Given the description of an element on the screen output the (x, y) to click on. 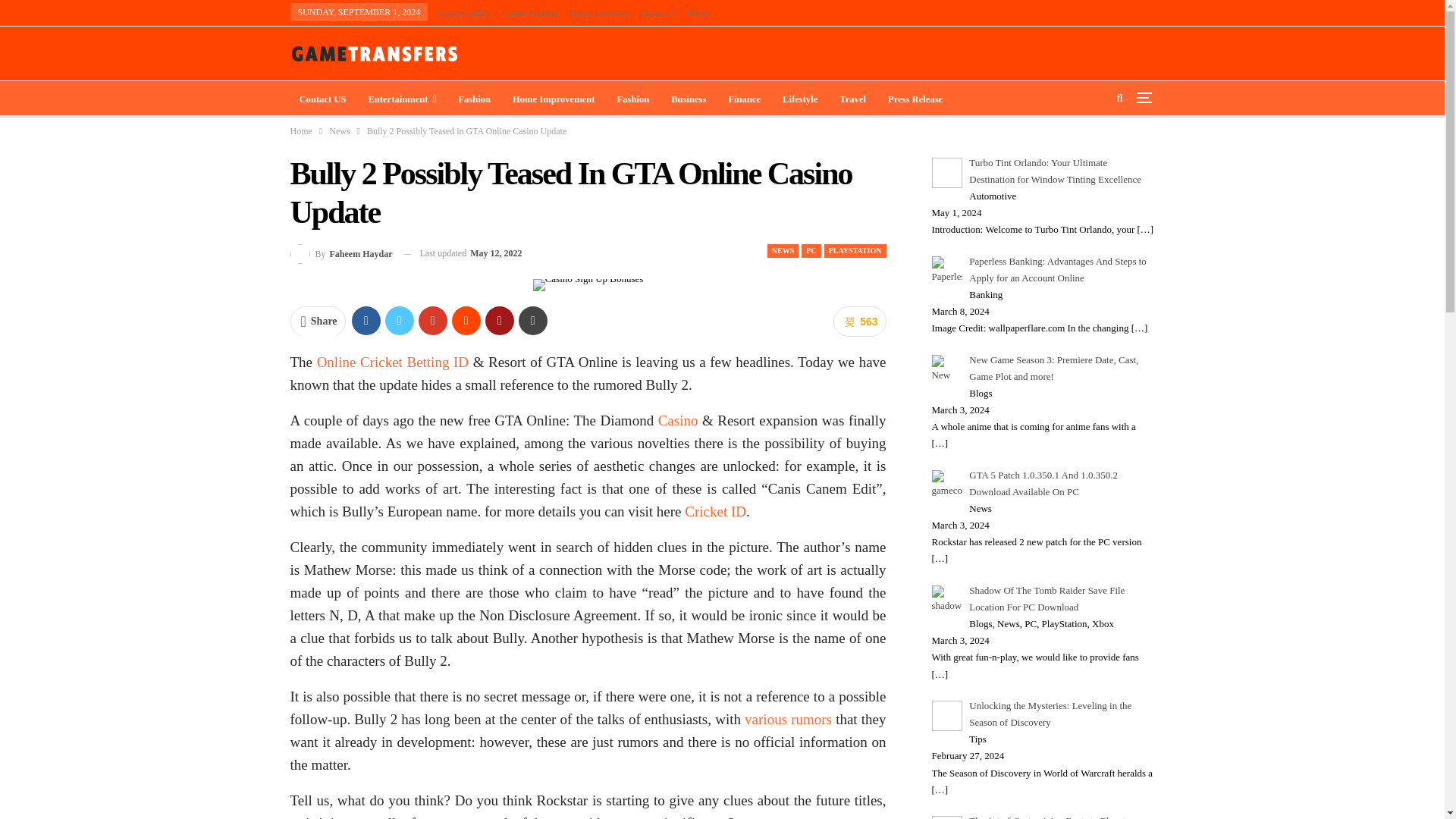
Browse Author Articles (340, 253)
Game Reviews (598, 12)
GameGuides (464, 12)
Home Improvement (553, 99)
Fashion (632, 99)
News (698, 12)
Games (658, 12)
Entertainment (401, 99)
Business (688, 99)
Contact US (322, 99)
